Given the description of an element on the screen output the (x, y) to click on. 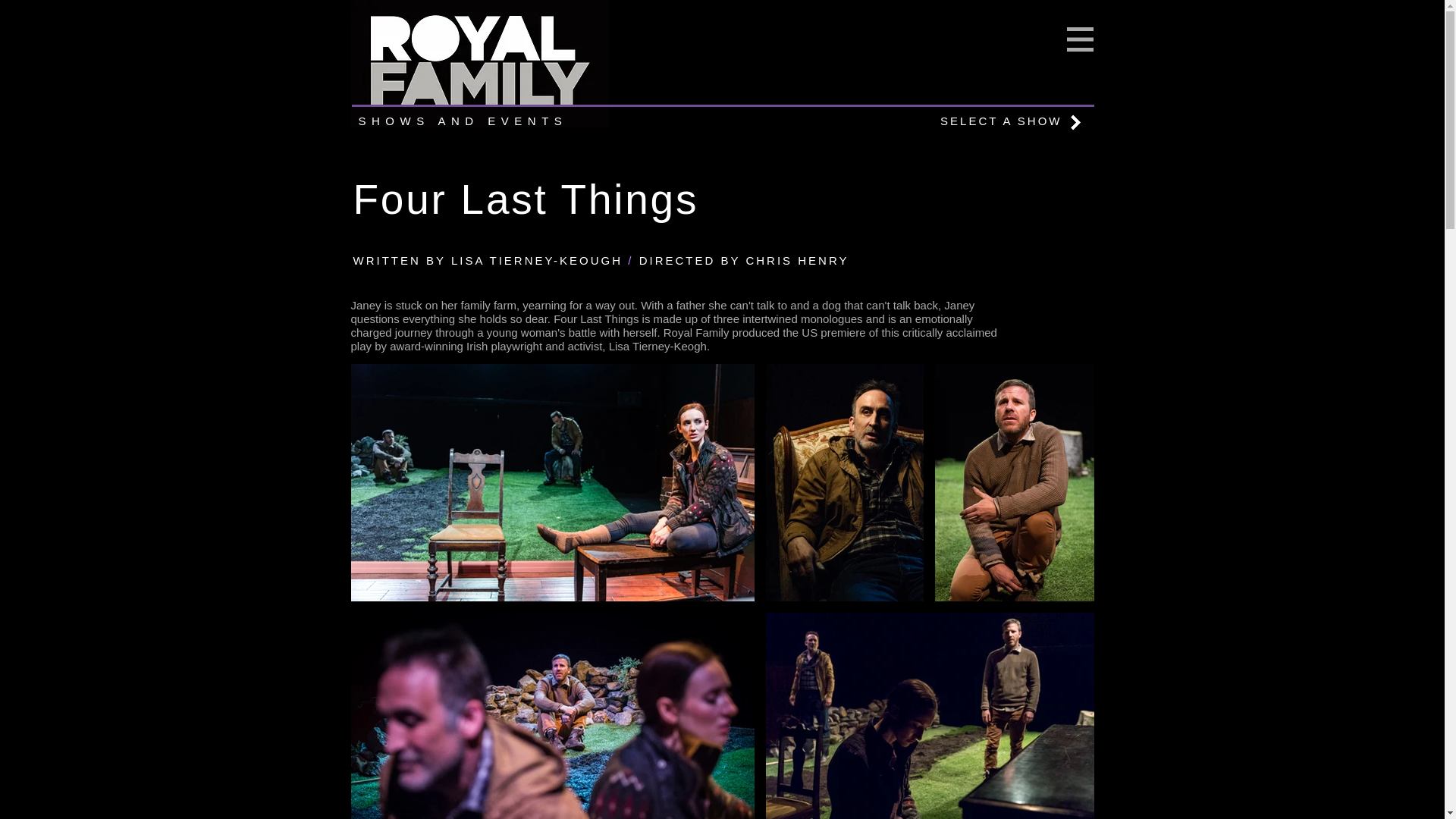
SHOWS AND EVENTS (462, 120)
SELECT A SHOW (1000, 120)
